Given the description of an element on the screen output the (x, y) to click on. 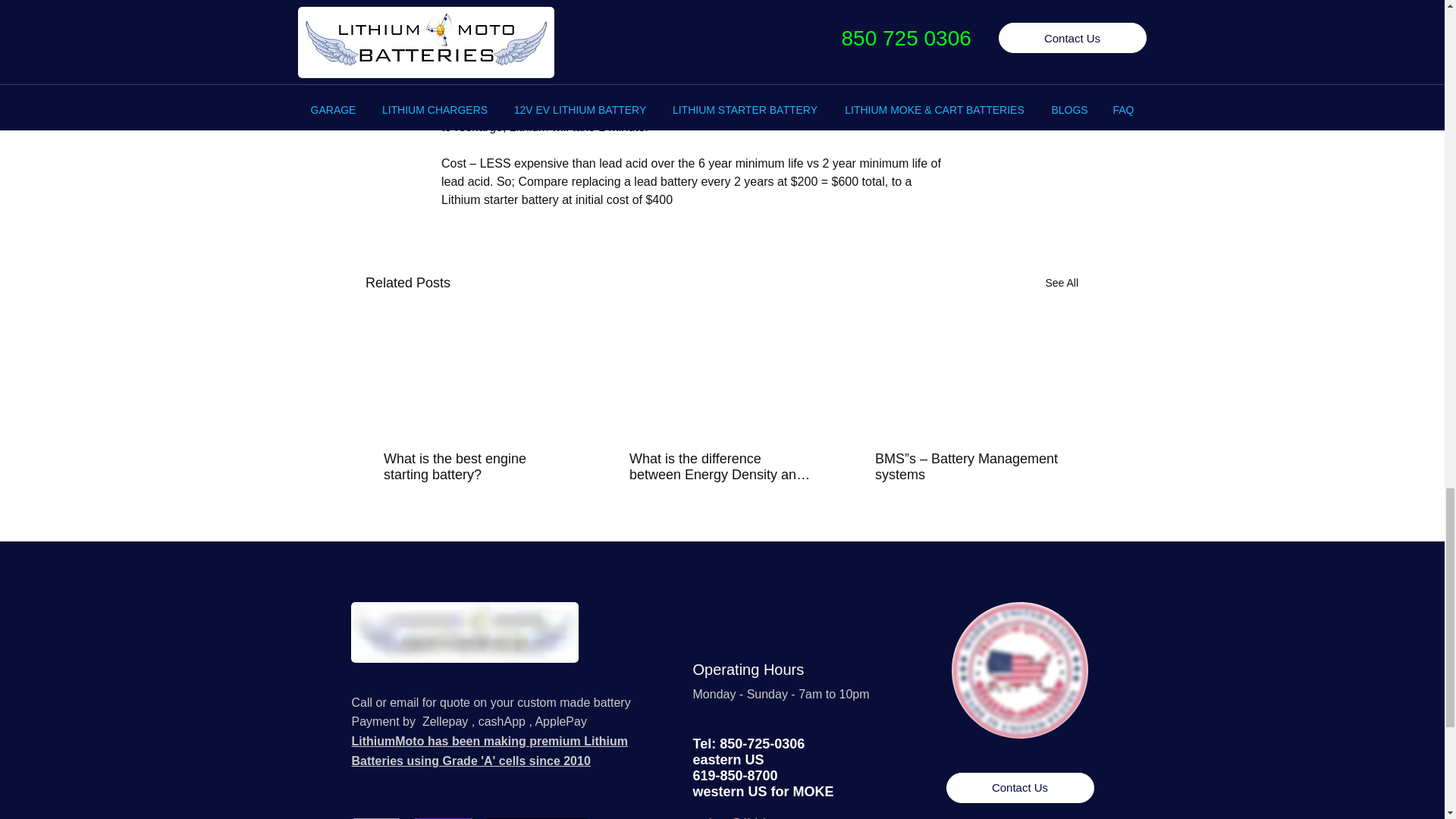
lithium starting battery  (464, 631)
What is the best engine starting battery? (475, 467)
See All (1061, 282)
Contact Us (1020, 788)
lithium starting battery  (376, 818)
Replace car battery with lithium  (1018, 669)
